Given the description of an element on the screen output the (x, y) to click on. 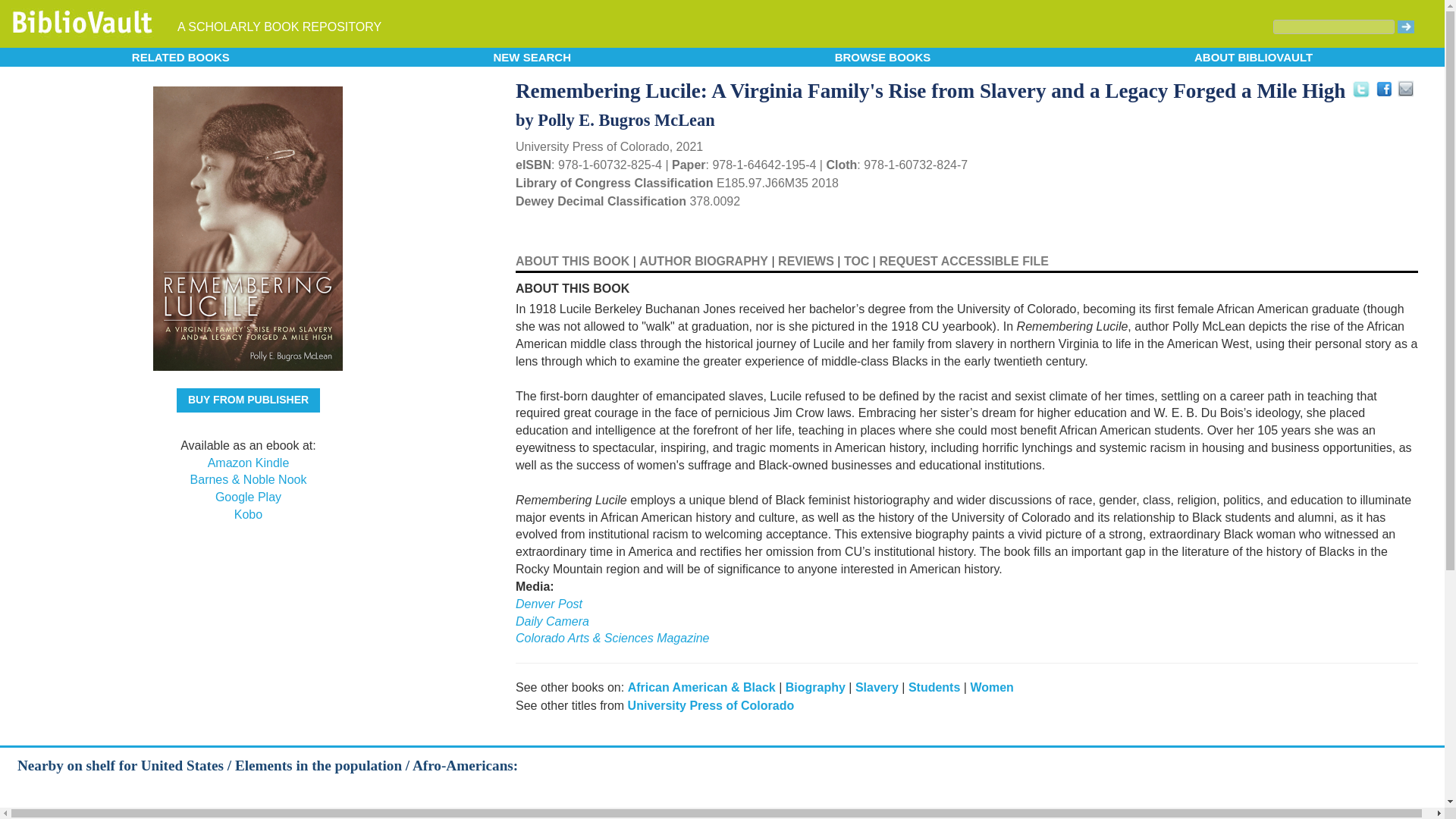
NEW SEARCH (532, 56)
BUY FROM PUBLISHER (248, 400)
Share on Twitter (1358, 86)
RELATED BOOKS (180, 56)
Amazon Kindle (248, 462)
ABOUT BIBLIOVAULT (1253, 56)
Search (1333, 26)
Share on Facebook (1384, 90)
Kobo (248, 513)
Send as an email (1404, 87)
BROWSE BOOKS (882, 56)
Google Play (248, 496)
